Given the description of an element on the screen output the (x, y) to click on. 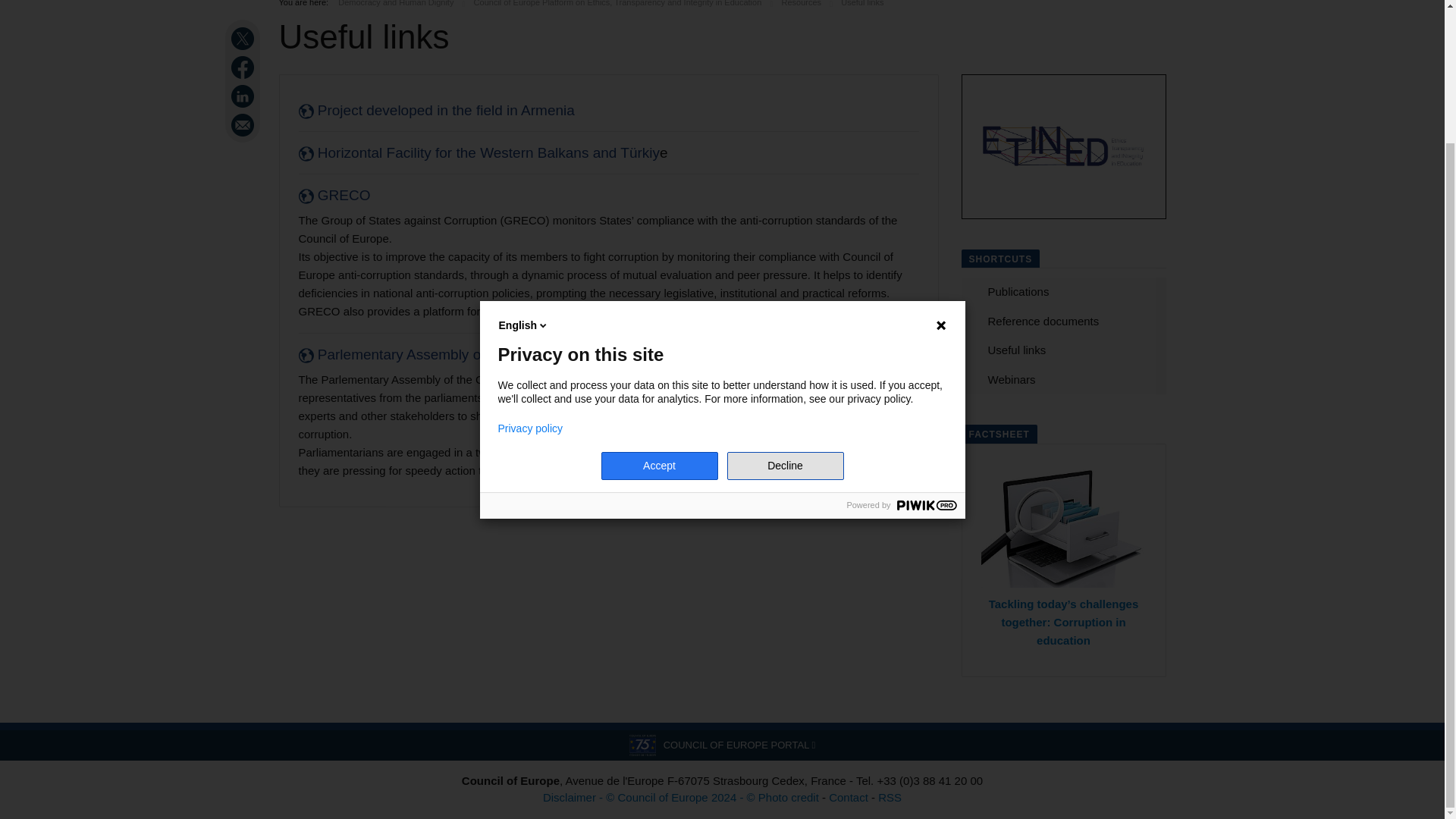
Share on Linkedin (244, 96)
Share on Facebook (244, 67)
Send this page (244, 124)
